Given the description of an element on the screen output the (x, y) to click on. 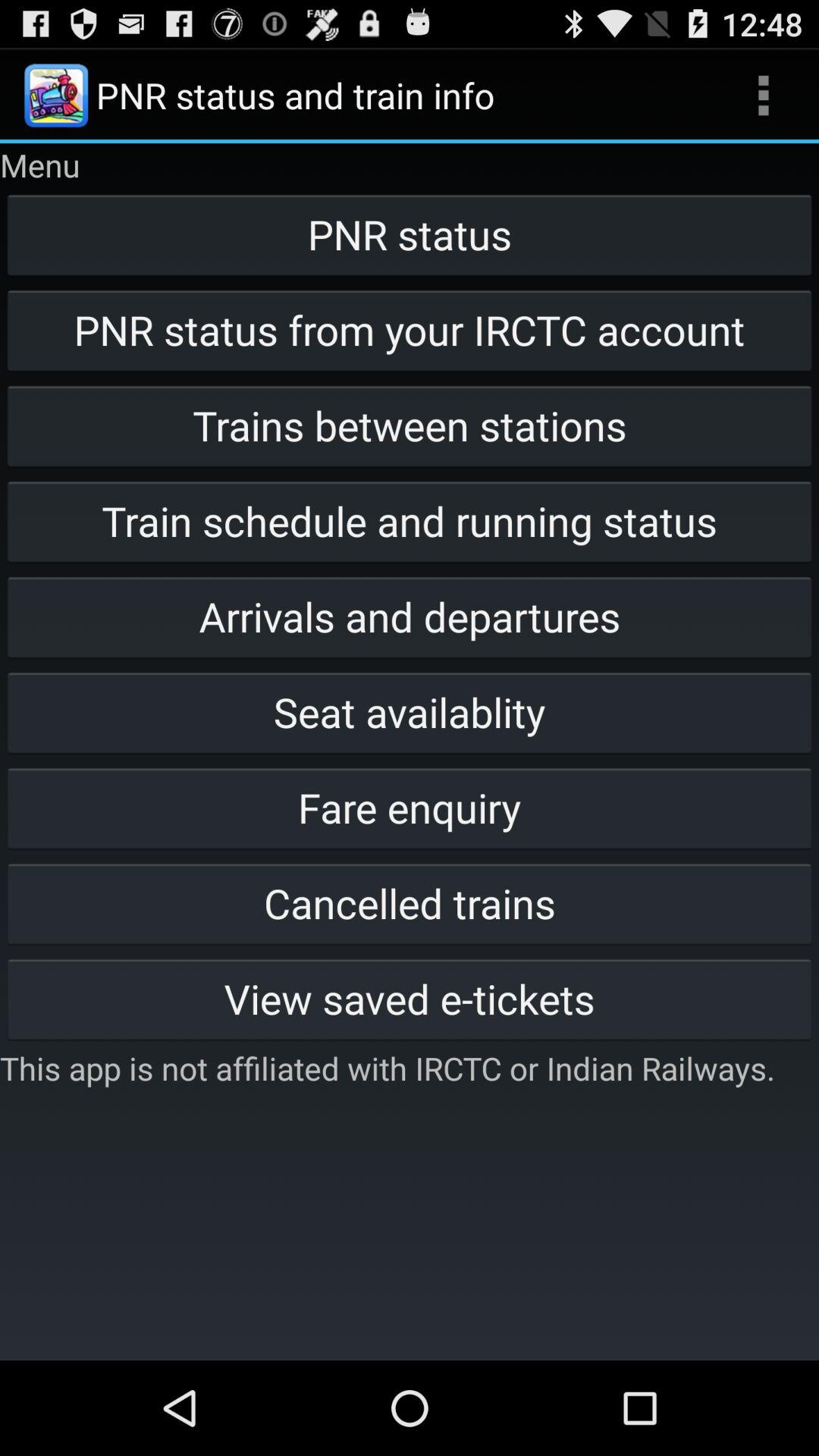
choose icon below the pnr status from (409, 425)
